Given the description of an element on the screen output the (x, y) to click on. 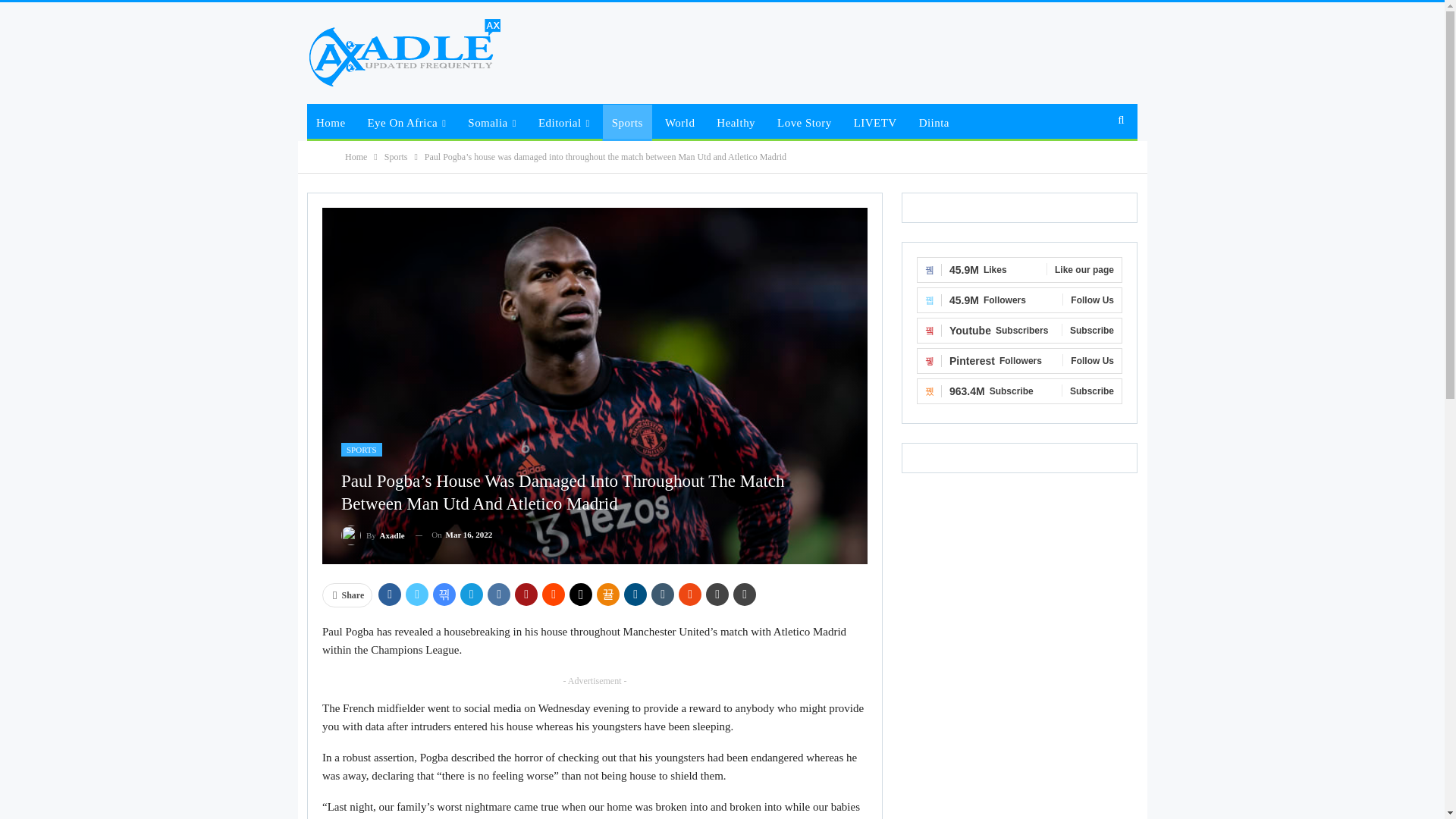
Eye On Africa (406, 122)
Browse Author Articles (372, 534)
World (679, 122)
Healthy (735, 122)
Home (331, 122)
Sports (627, 122)
Editorial (563, 122)
Somalia (491, 122)
